Given the description of an element on the screen output the (x, y) to click on. 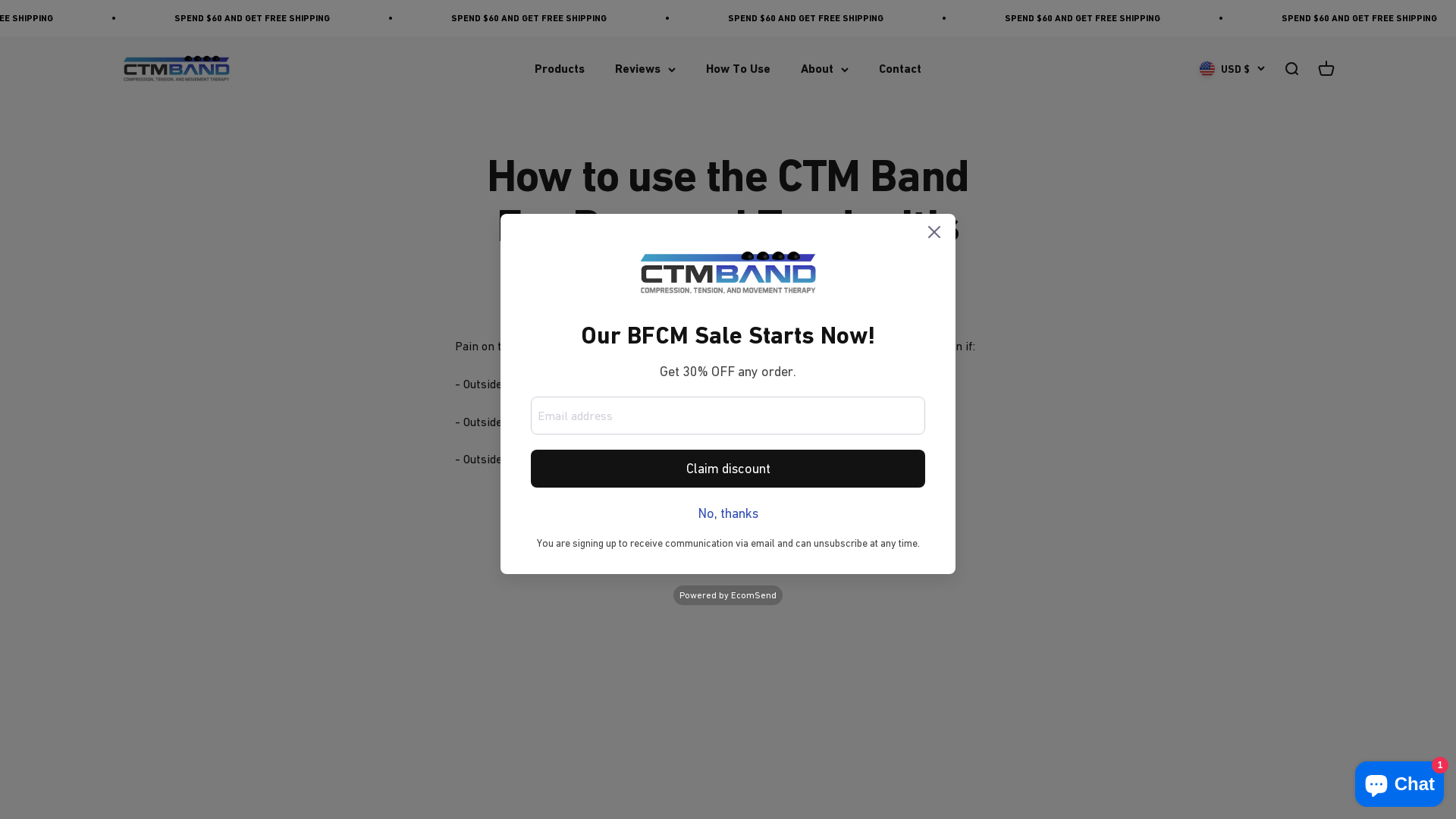
How To Use Element type: text (738, 69)
Shopify online store chat Element type: hover (1399, 780)
Contact Element type: text (899, 69)
USD $ Element type: text (1231, 68)
Products Element type: text (559, 69)
Open cart Element type: text (1325, 68)
CTM Therapy Element type: text (176, 68)
Open search Element type: text (1291, 68)
